Given the description of an element on the screen output the (x, y) to click on. 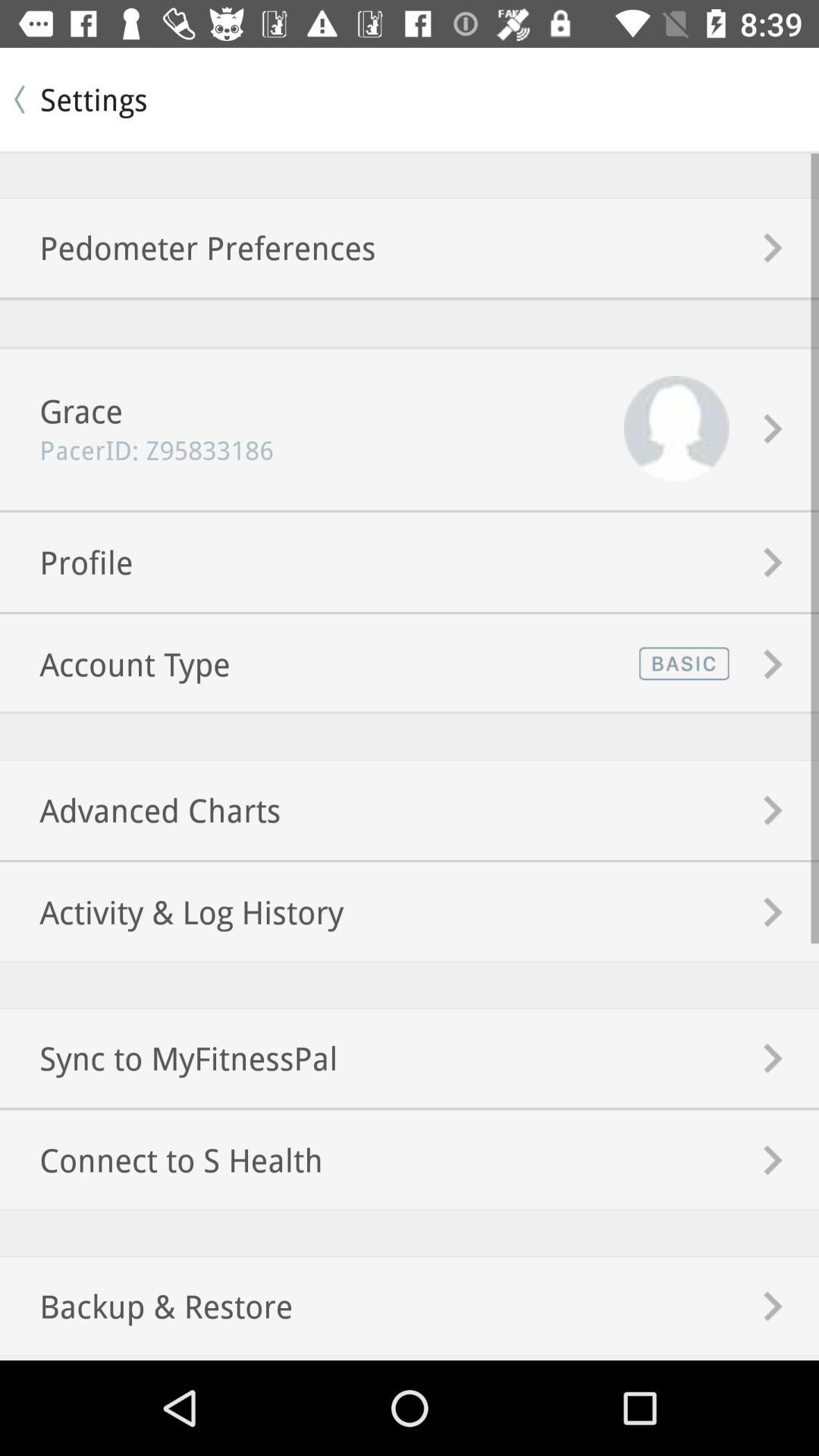
select item below the pacerid: z95833186 icon (66, 561)
